Given the description of an element on the screen output the (x, y) to click on. 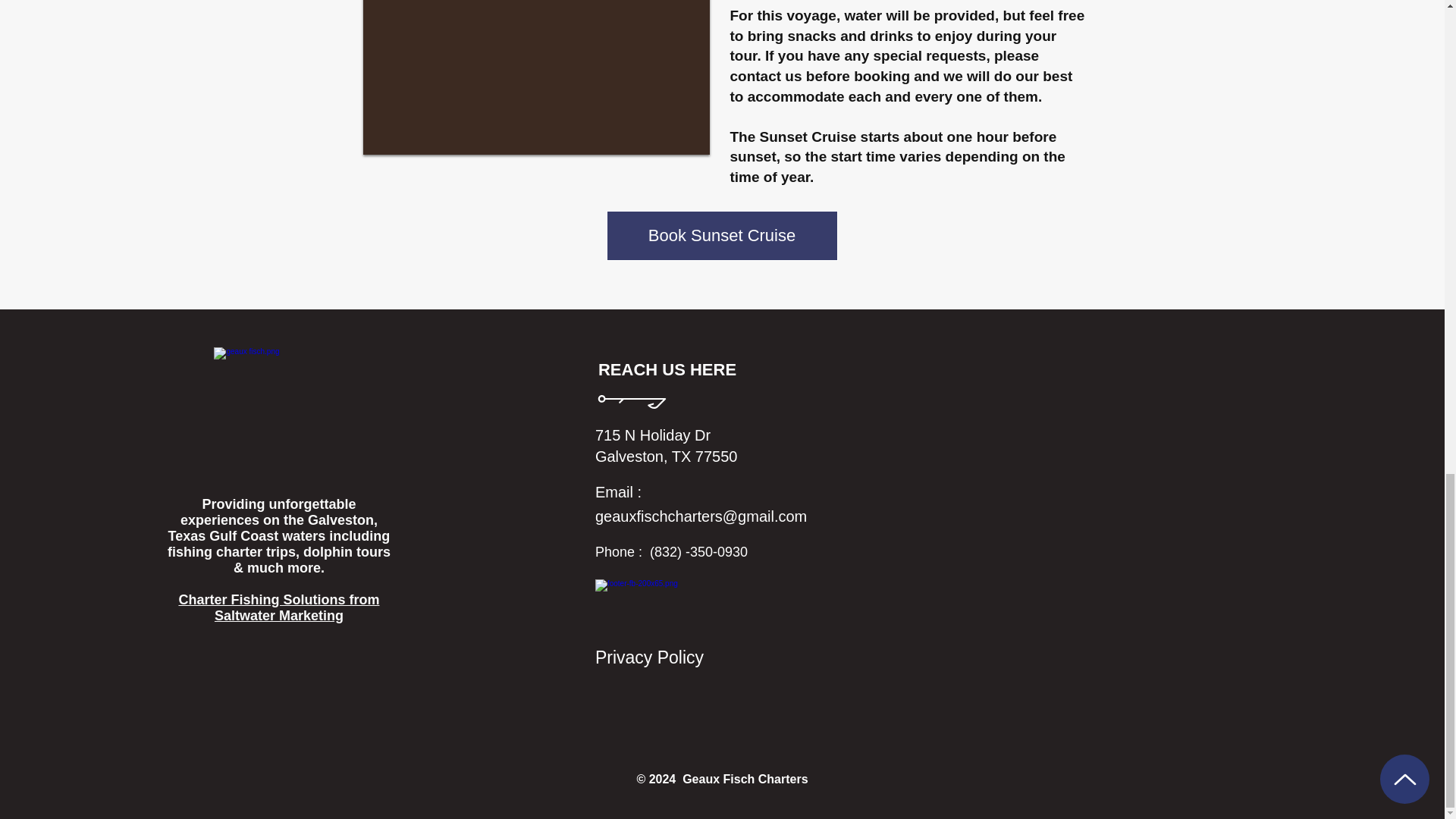
Privacy Policy (649, 657)
Easy-livin-charters-updated-logo.webp (274, 407)
Charter Fishing Solutions from Saltwater Marketing (277, 607)
Book Sunset Cruise (722, 235)
